Given the description of an element on the screen output the (x, y) to click on. 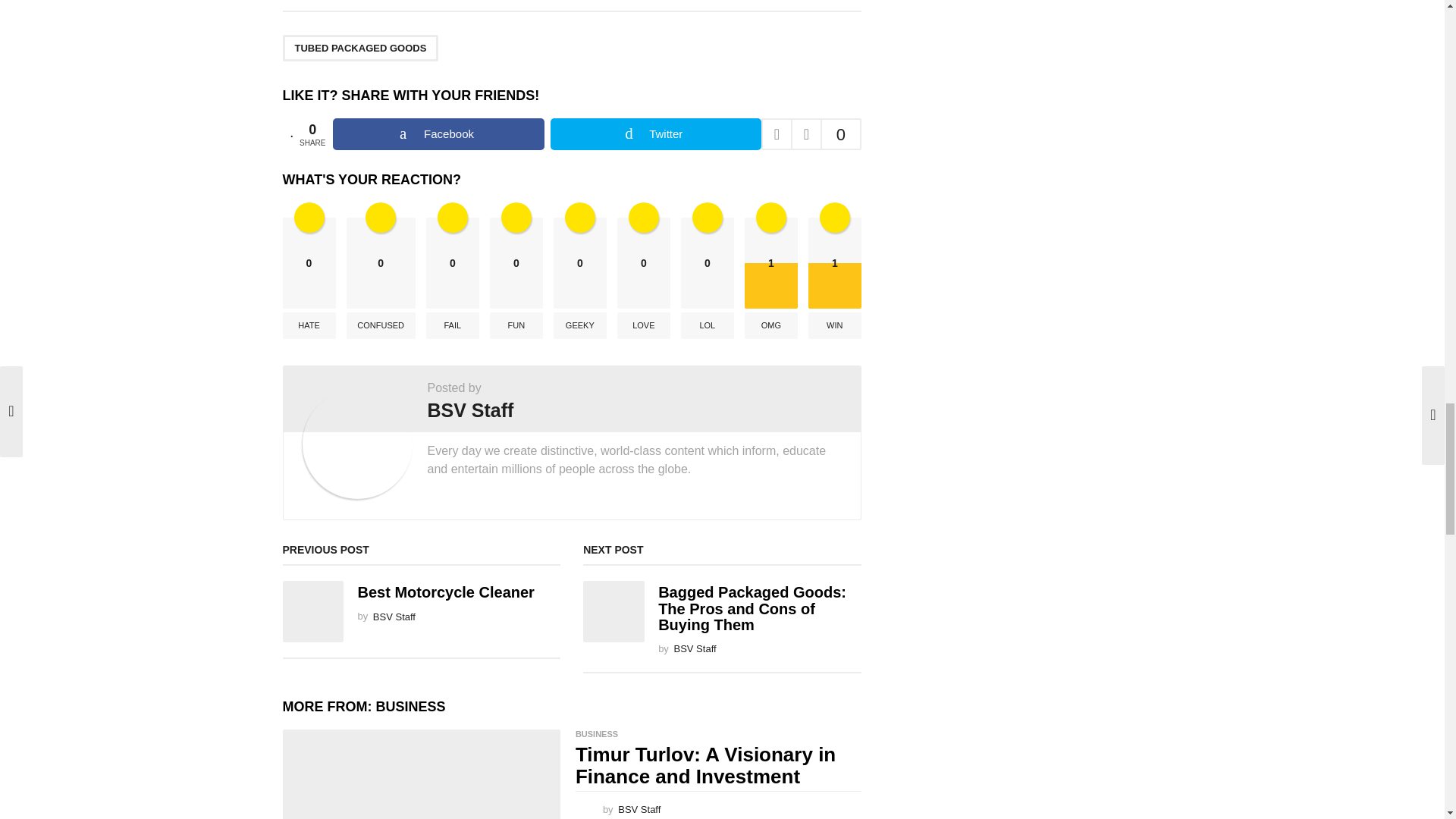
Share on Facebook (438, 133)
Share on Twitter (655, 133)
TUBED PACKAGED GOODS (360, 48)
Timur Turlov: A Visionary in Finance and Investment (420, 774)
